Given the description of an element on the screen output the (x, y) to click on. 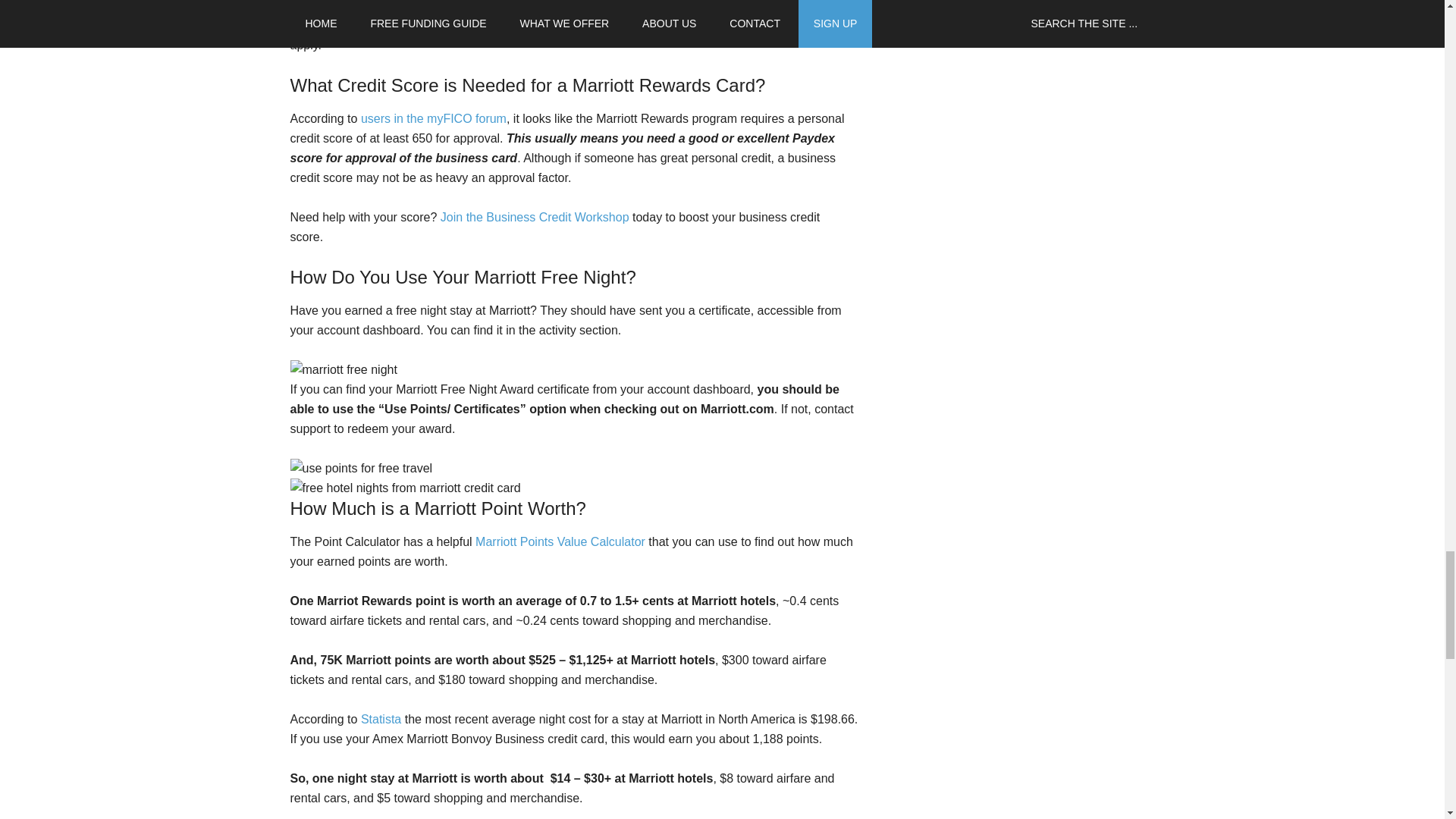
Join the Business Credit Workshop (534, 216)
users in the myFICO forum (433, 118)
Marriott Points Value Calculator (560, 541)
Statista (381, 718)
